Given the description of an element on the screen output the (x, y) to click on. 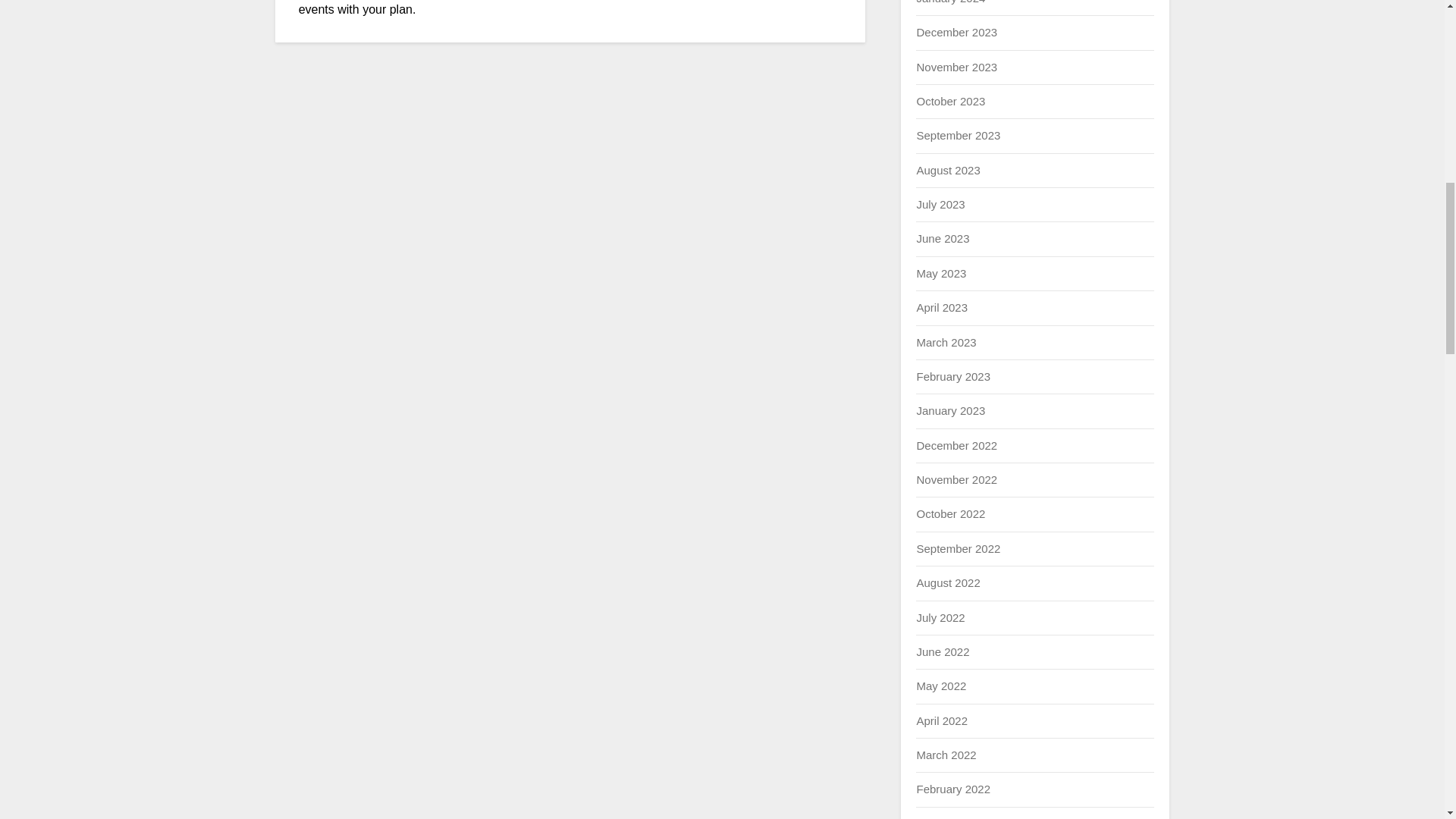
February 2023 (952, 376)
May 2022 (940, 685)
July 2023 (939, 204)
March 2023 (945, 341)
August 2022 (947, 582)
April 2022 (941, 720)
December 2023 (956, 31)
January 2023 (950, 410)
May 2023 (940, 273)
August 2023 (947, 169)
September 2023 (957, 134)
June 2023 (942, 237)
November 2023 (956, 66)
October 2023 (950, 101)
September 2022 (957, 548)
